Given the description of an element on the screen output the (x, y) to click on. 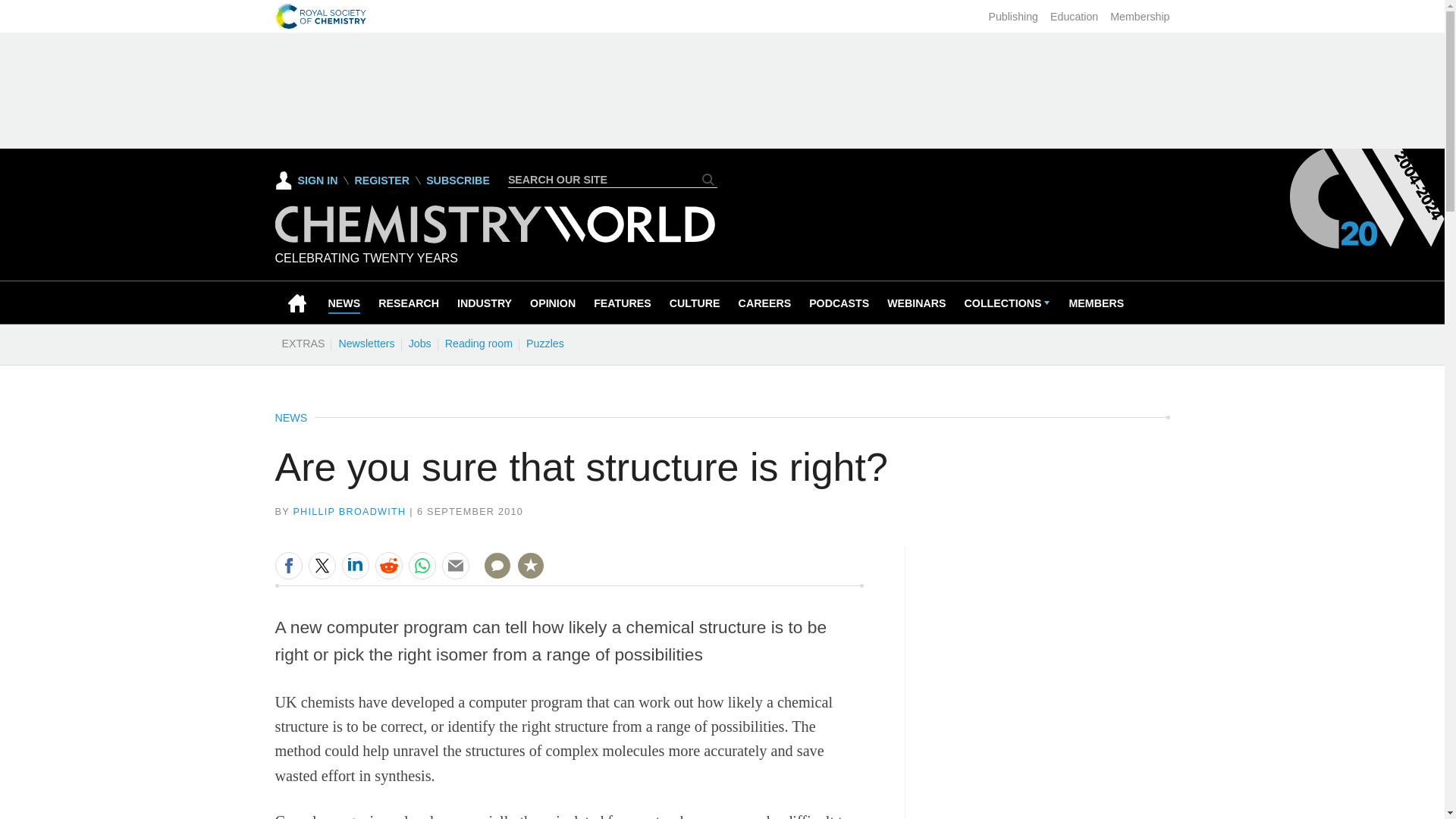
Share this by email (454, 565)
Education (1073, 16)
Chemistry World (494, 238)
Share this on LinkedIn (354, 565)
NO COMMENTS (492, 574)
REGISTER (381, 180)
Reading room (478, 343)
Puzzles (544, 343)
Share this on WhatsApp (421, 565)
SEARCH (708, 179)
Newsletters (366, 343)
SUBSCRIBE (457, 180)
Membership (1139, 16)
Share this on Facebook (288, 565)
SIGN IN (306, 180)
